Given the description of an element on the screen output the (x, y) to click on. 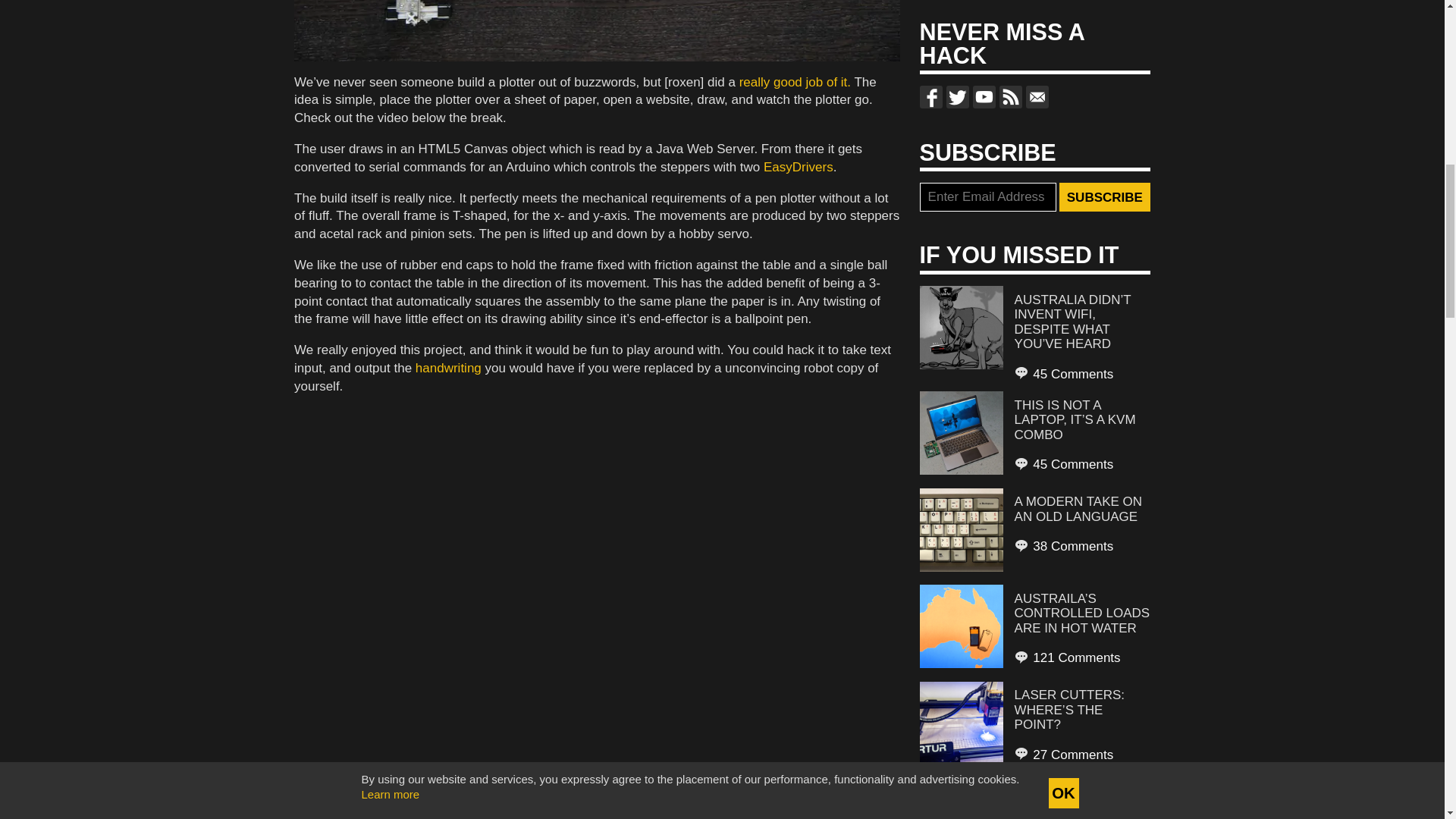
Robots Hacks (392, 807)
handwriting (447, 368)
really good job of it. (796, 82)
Subscribe (1104, 196)
EasyDrivers (797, 166)
